Given the description of an element on the screen output the (x, y) to click on. 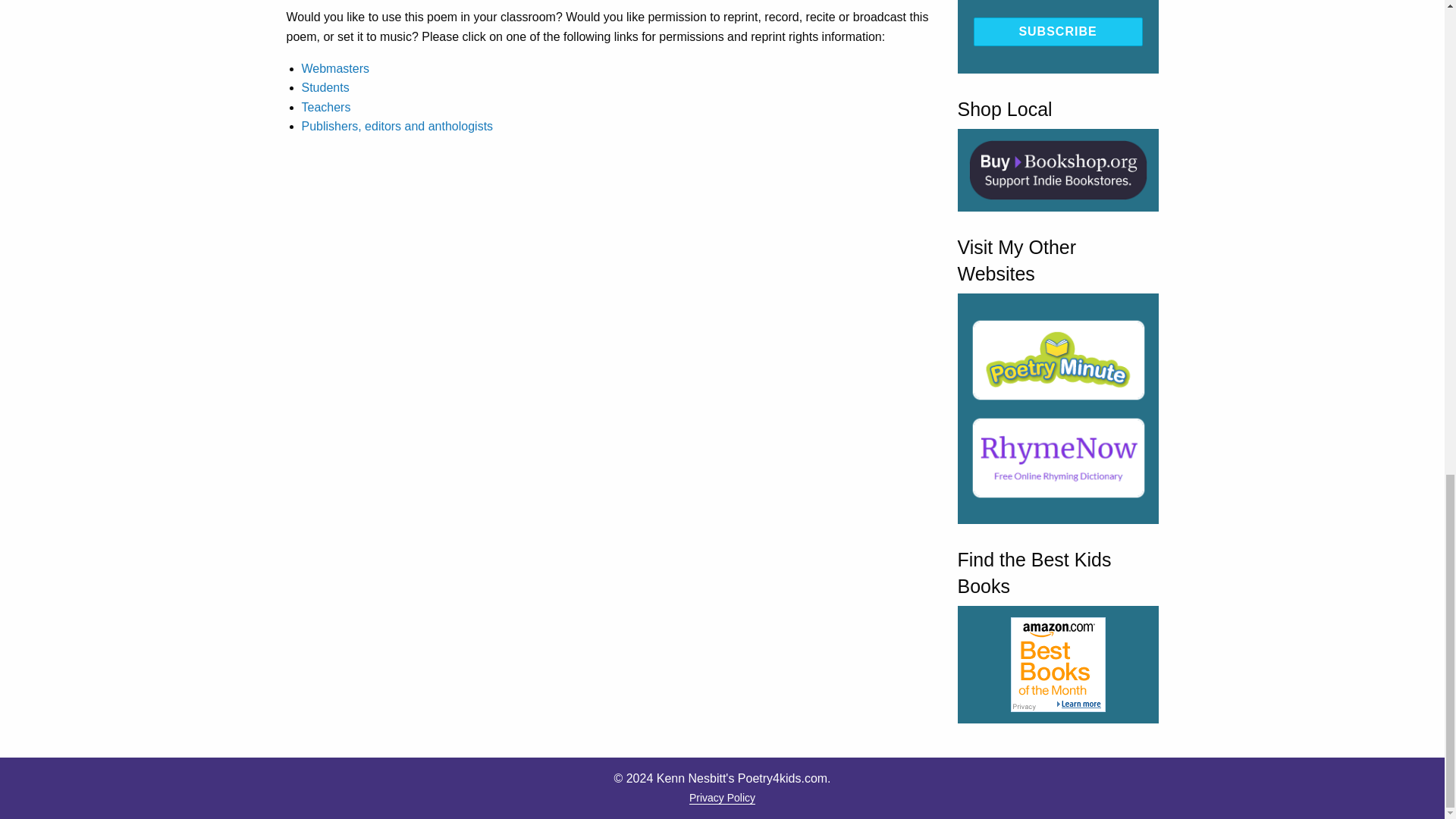
RhymeNow (1058, 457)
PoetryMinute (1058, 359)
Subscribe (1058, 31)
